Given the description of an element on the screen output the (x, y) to click on. 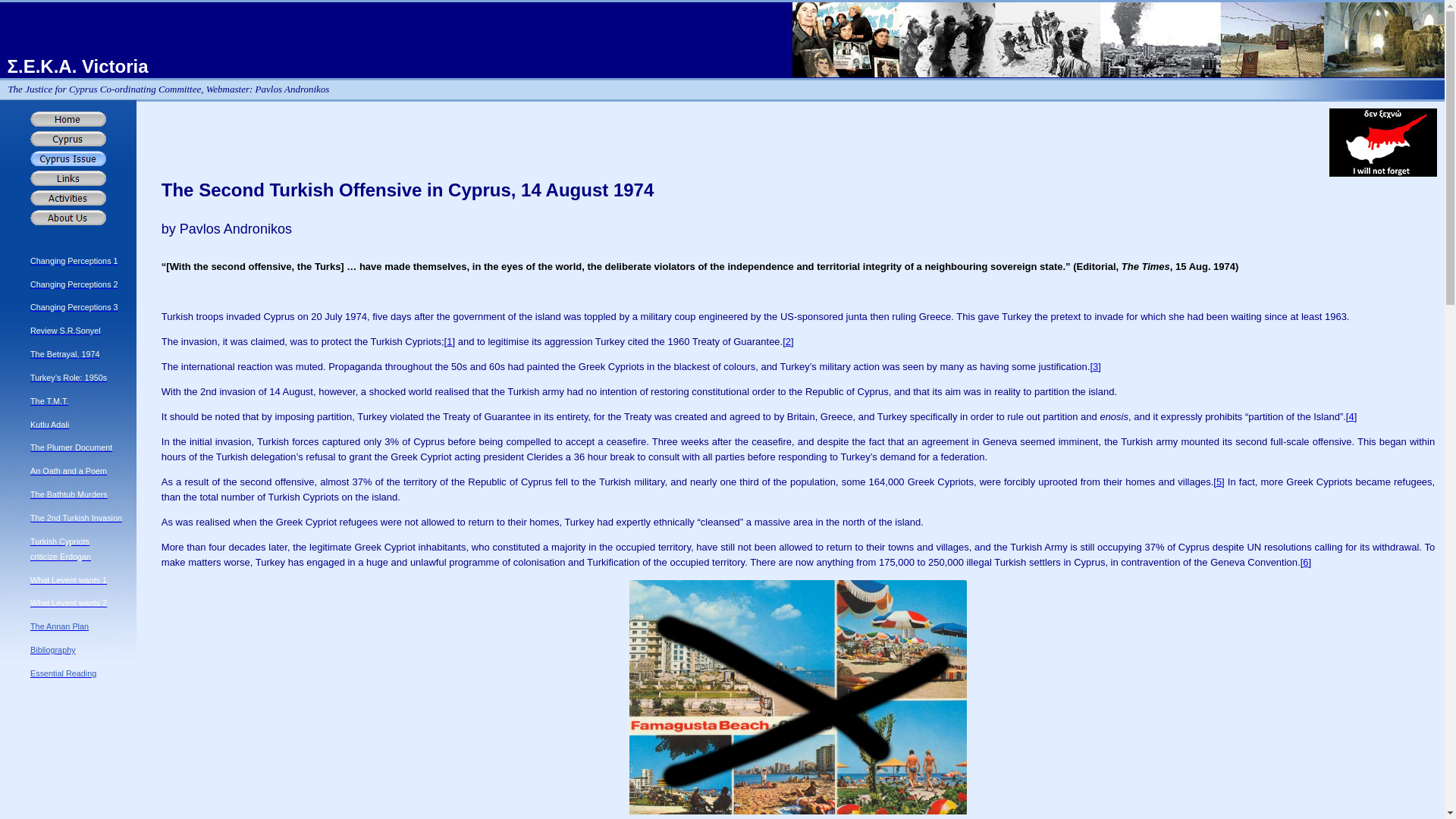
Changing Perceptions 3 Element type: text (74, 306)
The Plumer Document Element type: text (71, 446)
Essential Reading Element type: text (63, 672)
The T.M.T. Element type: text (49, 400)
Kutlu Adali Element type: text (49, 424)
6 Element type: text (1305, 561)
1 Element type: text (448, 341)
Review S.R.Sonyel Element type: text (65, 330)
The Betrayal, 1974 Element type: text (65, 353)
5 Element type: text (1218, 481)
3 Element type: text (1095, 366)
Bibliography Element type: text (52, 649)
What Levent wants 1 Element type: text (68, 579)
The Annan Plan Element type: text (59, 625)
The 2nd Turkish Invasion Element type: text (76, 517)
Changing Perceptions 2 Element type: text (74, 283)
What Levent wants 2 Element type: text (68, 602)
Changing Perceptions 1 Element type: text (74, 260)
An Oath and a Poem Element type: text (68, 470)
4 Element type: text (1350, 416)
2 Element type: text (787, 341)
The Bathtub Murders Element type: text (68, 493)
Turkish Cypriots
criticize Erdogan Element type: text (60, 548)
